Given the description of an element on the screen output the (x, y) to click on. 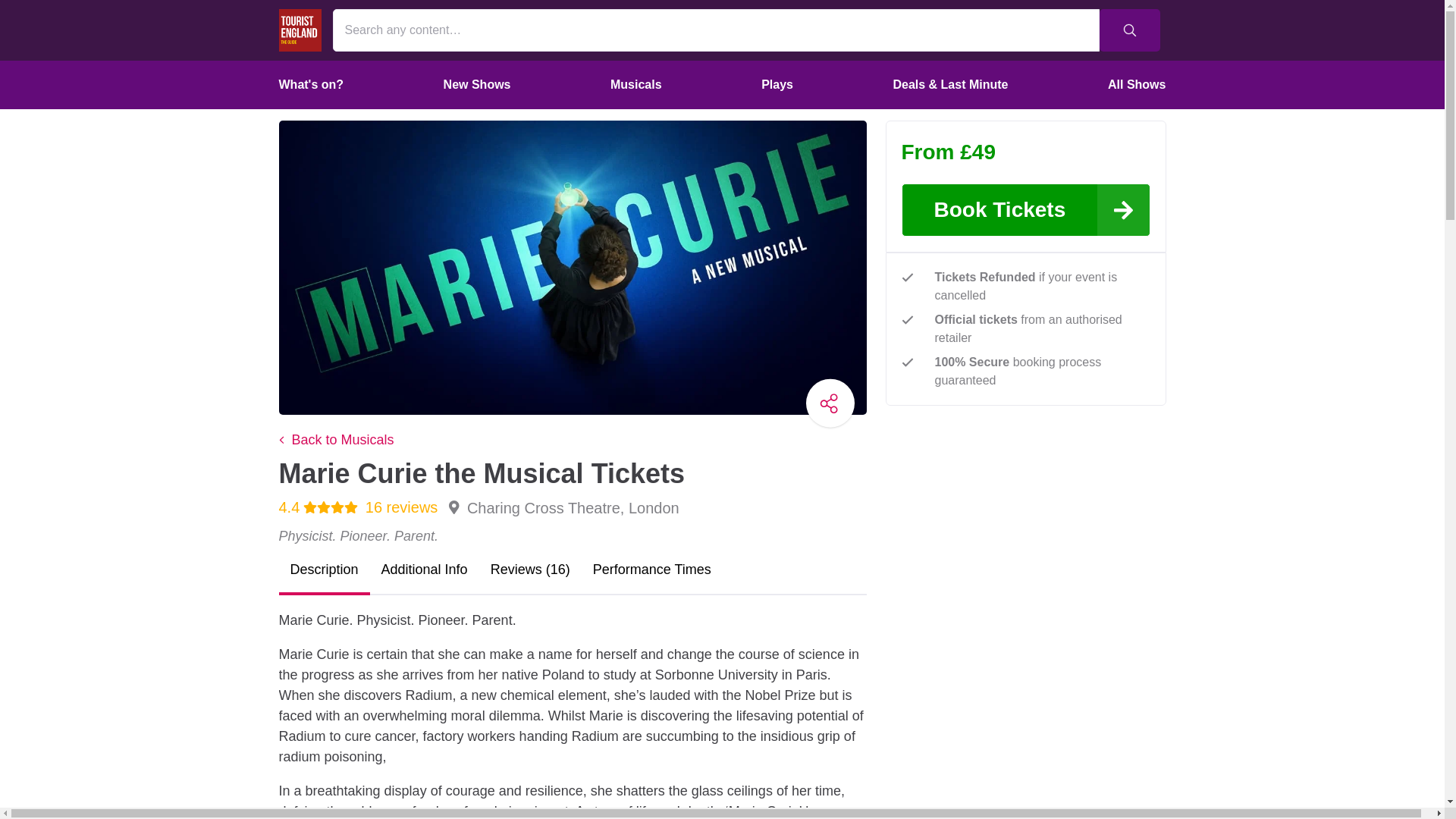
New Shows (477, 84)
Plays (777, 84)
Performance Times (651, 569)
Performance Times (651, 569)
Additional Info (424, 569)
What's on? (310, 84)
Book Tickets (1025, 209)
Back to Musicals (336, 439)
Musicals (635, 84)
Description (324, 569)
Reviews (529, 569)
Additional Info (424, 569)
All Shows (1136, 84)
Description (324, 569)
16 reviews (398, 507)
